Given the description of an element on the screen output the (x, y) to click on. 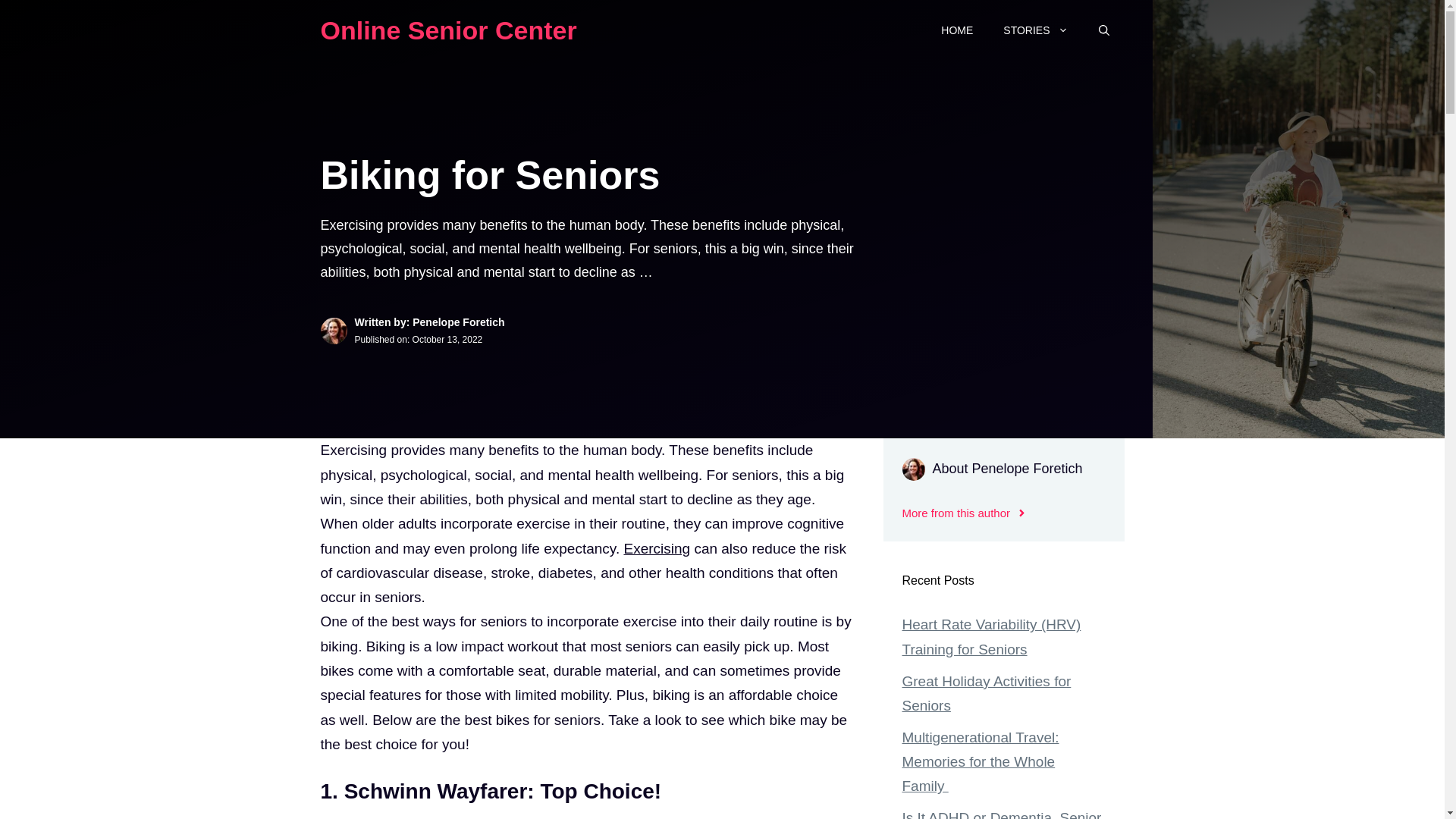
Multigenerational Travel: Memories for the Whole Family  (980, 761)
More from this author (964, 513)
Exercising (656, 548)
Online Senior Center (448, 30)
STORIES (1035, 30)
Is It ADHD or Dementia, Senior Adult? (1002, 814)
HOME (957, 30)
Great Holiday Activities for Seniors (986, 693)
